Given the description of an element on the screen output the (x, y) to click on. 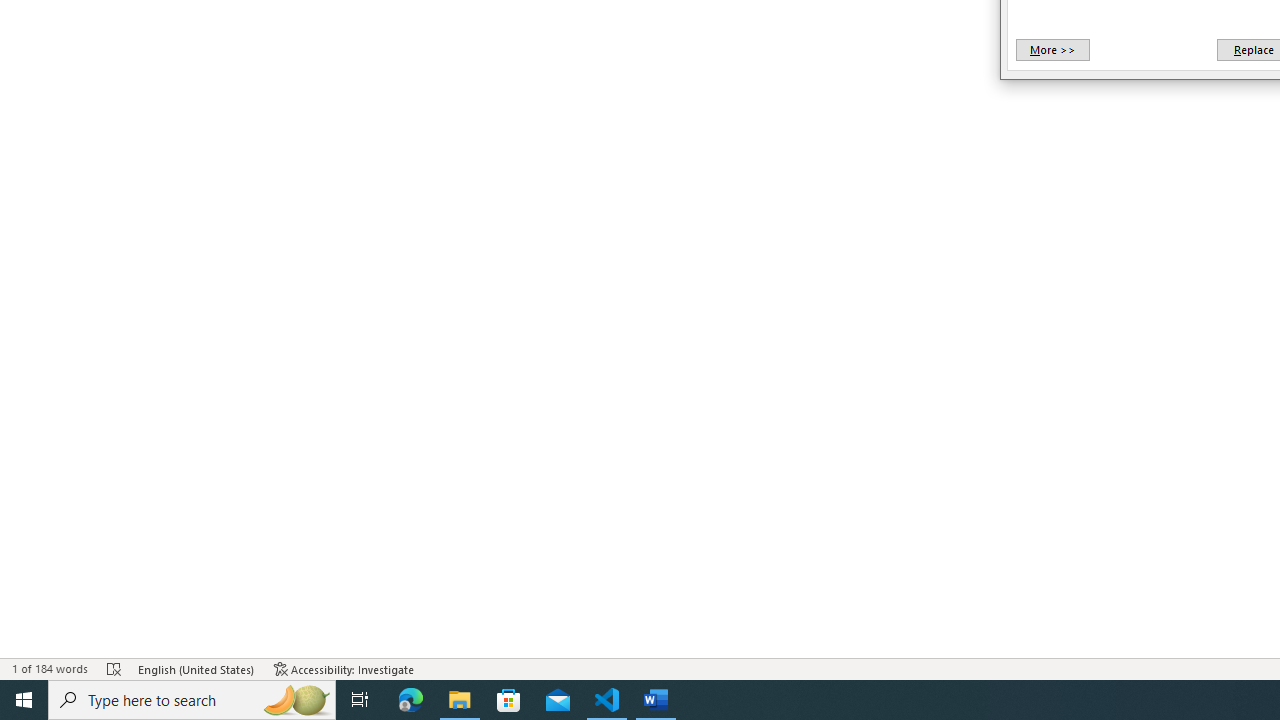
File Explorer - 1 running window (460, 699)
More >> (1052, 49)
Visual Studio Code - 1 running window (607, 699)
Word Count 1 of 184 words (49, 668)
Task View (359, 699)
Microsoft Edge (411, 699)
Type here to search (191, 699)
Search highlights icon opens search home window (295, 699)
Start (24, 699)
Microsoft Store (509, 699)
Word - 1 running window (656, 699)
Spelling and Grammar Check Errors (114, 668)
